Given the description of an element on the screen output the (x, y) to click on. 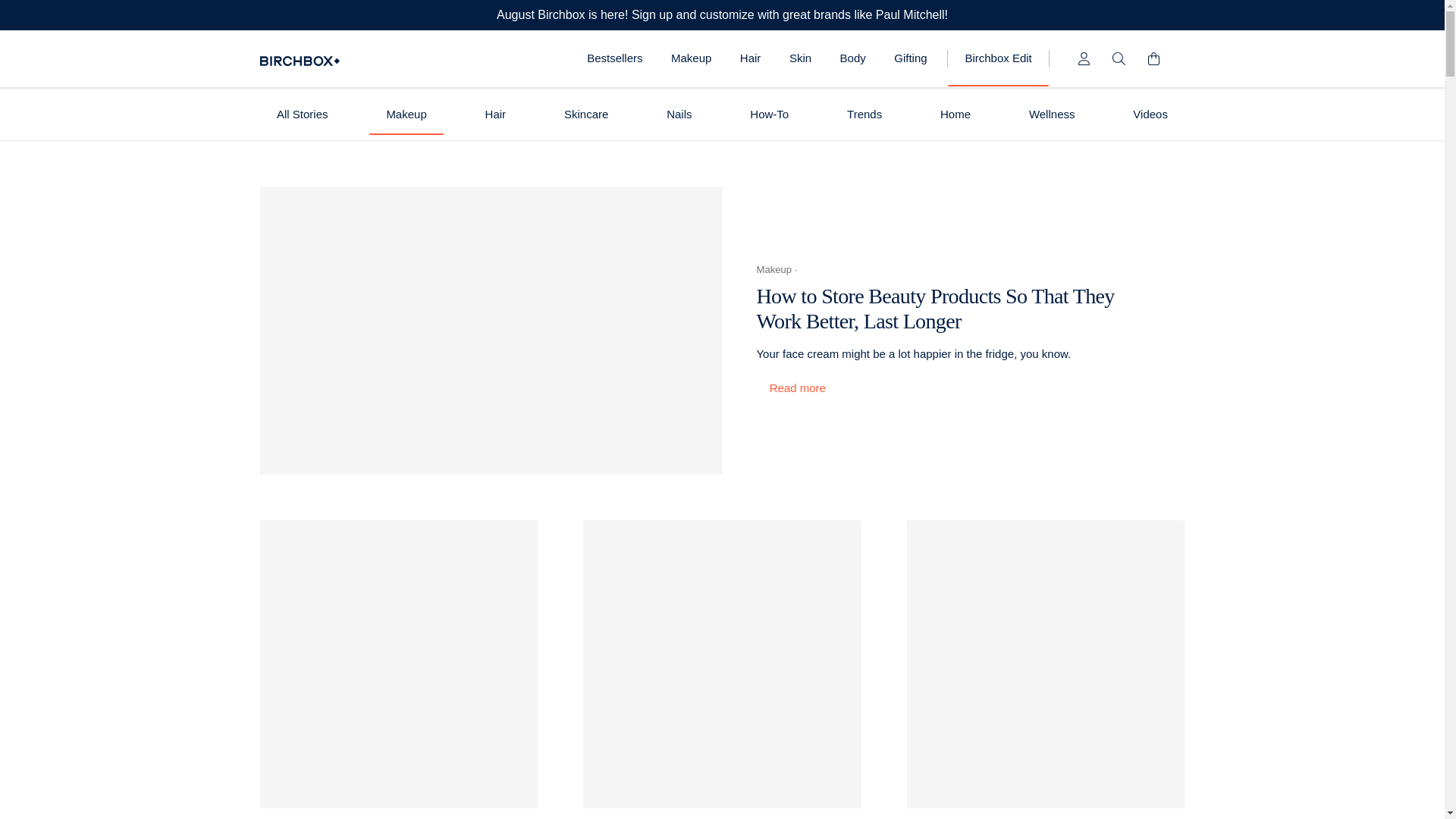
Wellness (1051, 114)
All Stories (302, 114)
Bestsellers (614, 58)
How-To (769, 114)
Hair (494, 114)
Skin (799, 58)
Body (852, 58)
Nails (679, 114)
Home (955, 114)
Skincare (585, 114)
Gifting (911, 58)
Birchbox Edit (997, 57)
Makeup (690, 58)
Videos (1150, 114)
